Given the description of an element on the screen output the (x, y) to click on. 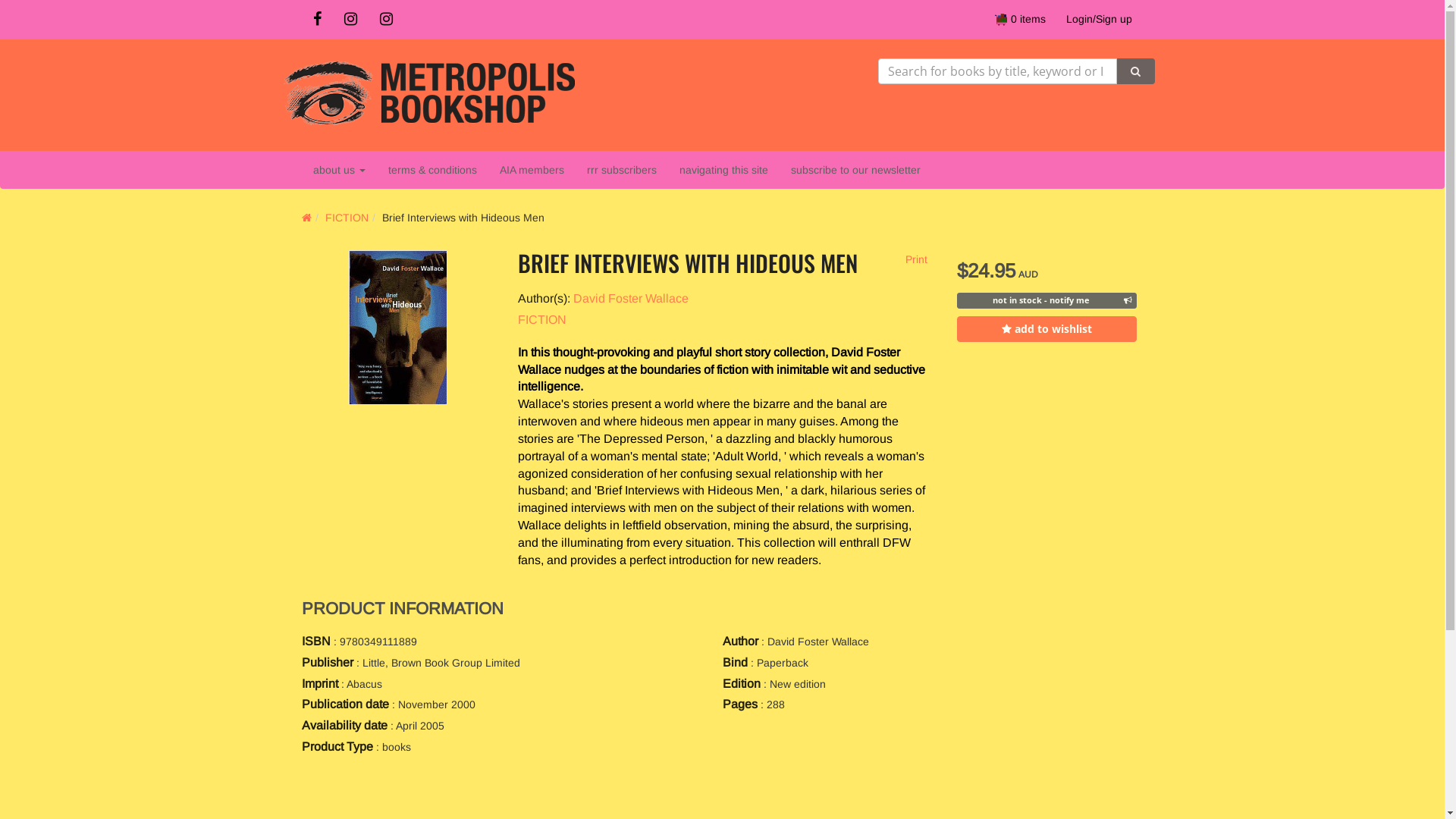
rrr subscribers Element type: text (620, 169)
about us  Element type: text (338, 169)
notify me Element type: text (1046, 300)
David Foster Wallace Element type: text (630, 297)
FICTION Element type: text (541, 319)
subscribe to our newsletter Element type: text (855, 169)
 Print Element type: text (914, 259)
navigating this site Element type: text (722, 169)
Login/Sign up Element type: text (1098, 18)
terms & conditions Element type: text (431, 169)
add to wishlist Element type: text (1046, 329)
FICTION Element type: text (345, 217)
AIA members Element type: text (531, 169)
Brief Interviews with Hideous Men Element type: hover (397, 327)
0 items Element type: text (1019, 18)
0 items Element type: text (1019, 18)
